Given the description of an element on the screen output the (x, y) to click on. 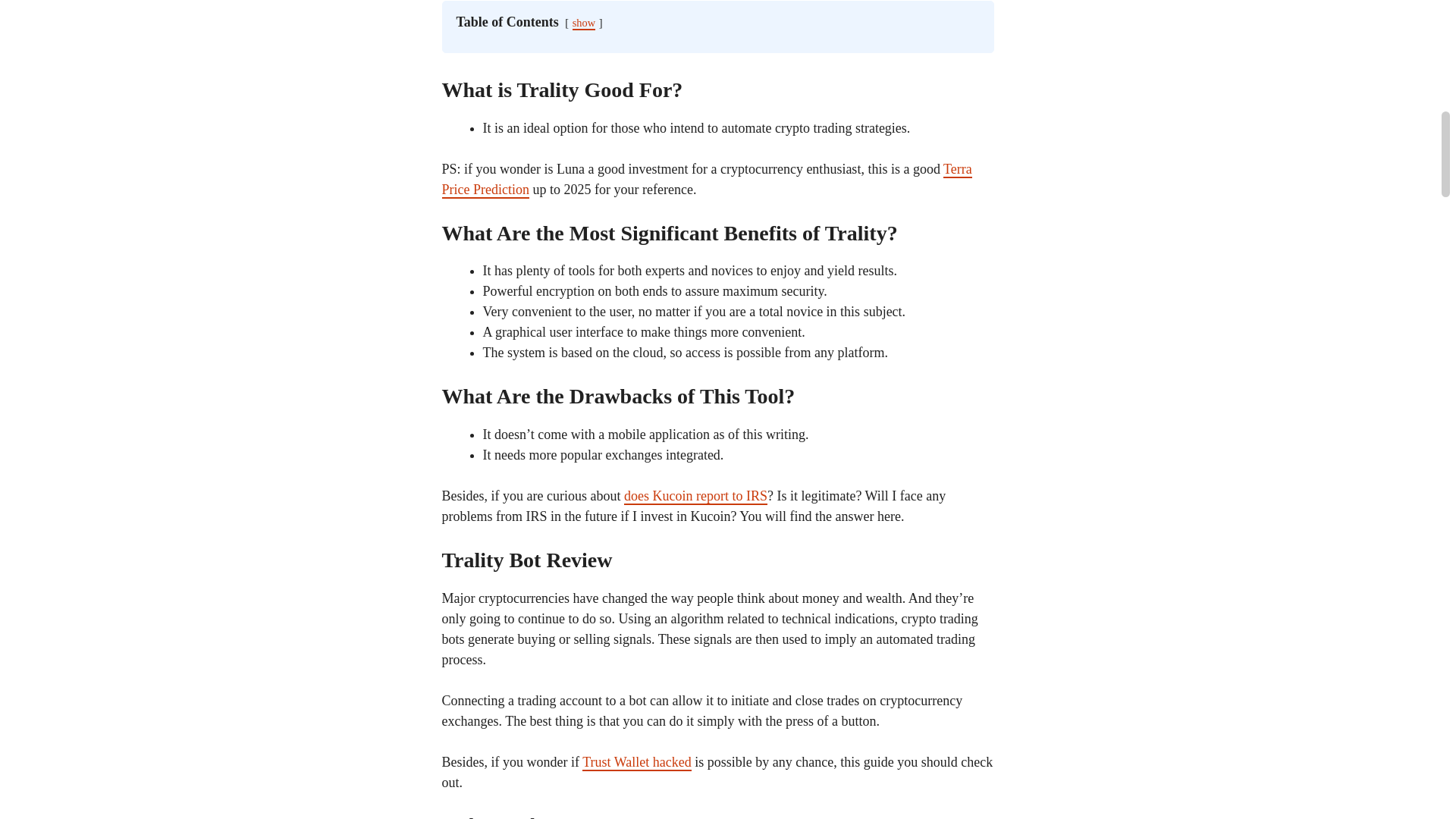
show (583, 23)
